Given the description of an element on the screen output the (x, y) to click on. 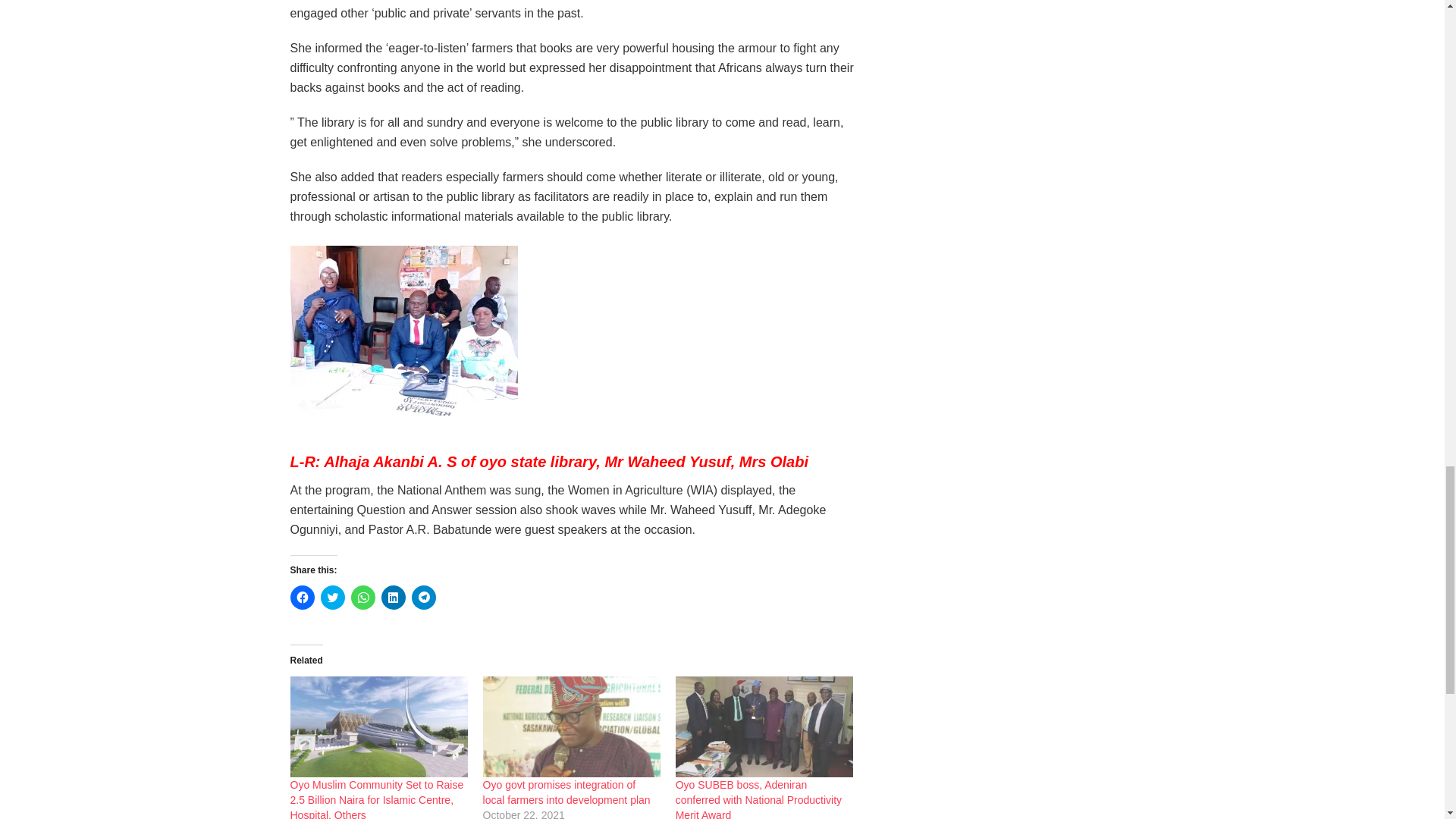
Click to share on WhatsApp (362, 597)
Click to share on Twitter (331, 597)
Click to share on Telegram (422, 597)
Click to share on LinkedIn (392, 597)
Click to share on Facebook (301, 597)
